Given the description of an element on the screen output the (x, y) to click on. 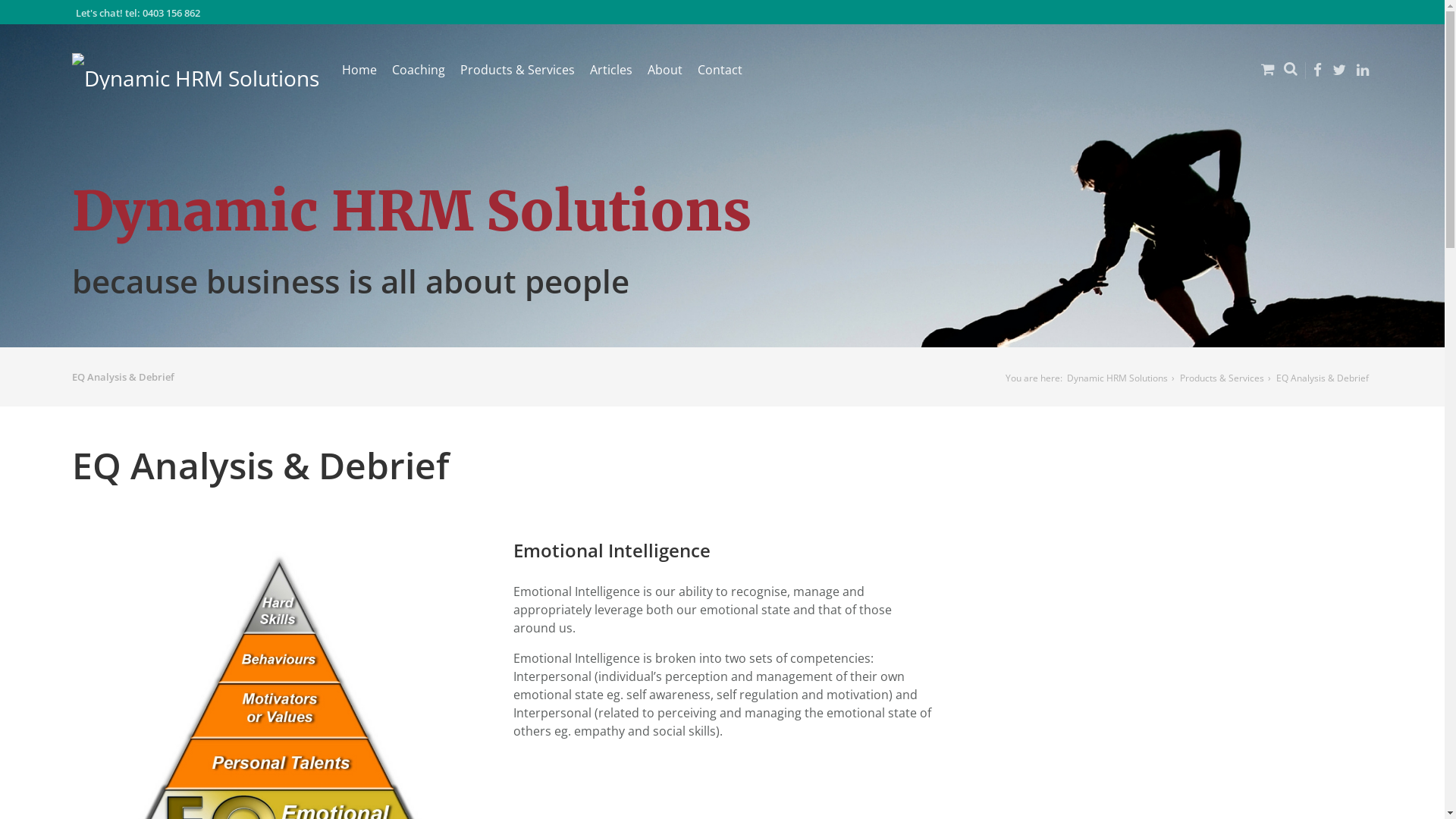
Articles Element type: text (611, 70)
Facebook Element type: hover (1317, 70)
About Element type: text (665, 70)
Dynamic HRM Solutions Element type: hover (195, 71)
Home Element type: text (359, 70)
Contact Element type: text (719, 70)
LinkedIn Element type: hover (1362, 70)
Dynamic HRM Solutions Element type: text (1118, 377)
View your shopping cart Element type: hover (1263, 80)
Products & Services Element type: text (517, 70)
Twitter Element type: hover (1339, 70)
Coaching Element type: text (418, 70)
Products & Services Element type: text (1223, 377)
